Given the description of an element on the screen output the (x, y) to click on. 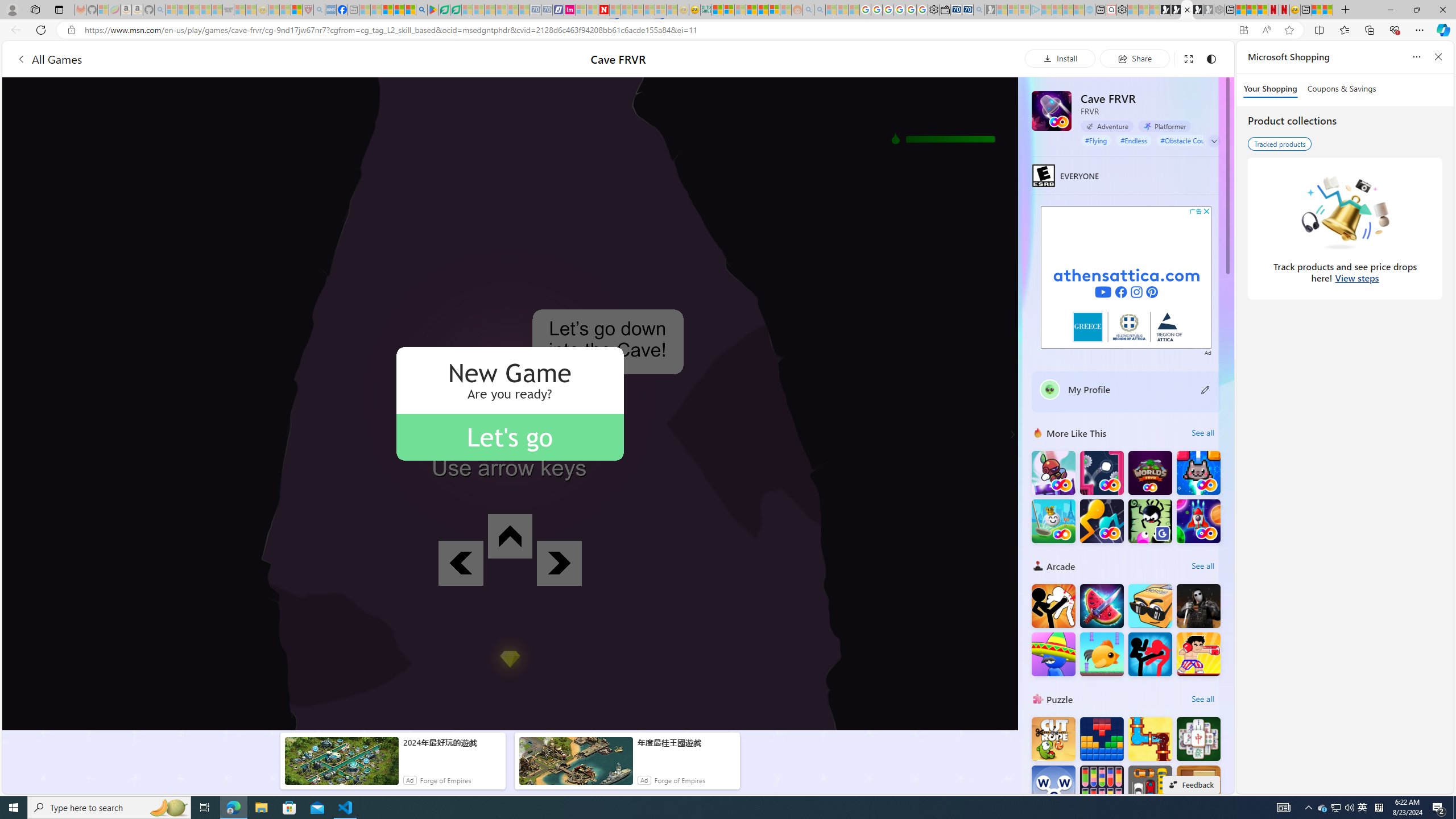
Feedback (1190, 784)
Cheap Car Rentals - Save70.com (967, 9)
Bluey: Let's Play! - Apps on Google Play (433, 9)
Full screen (1187, 58)
